Given the description of an element on the screen output the (x, y) to click on. 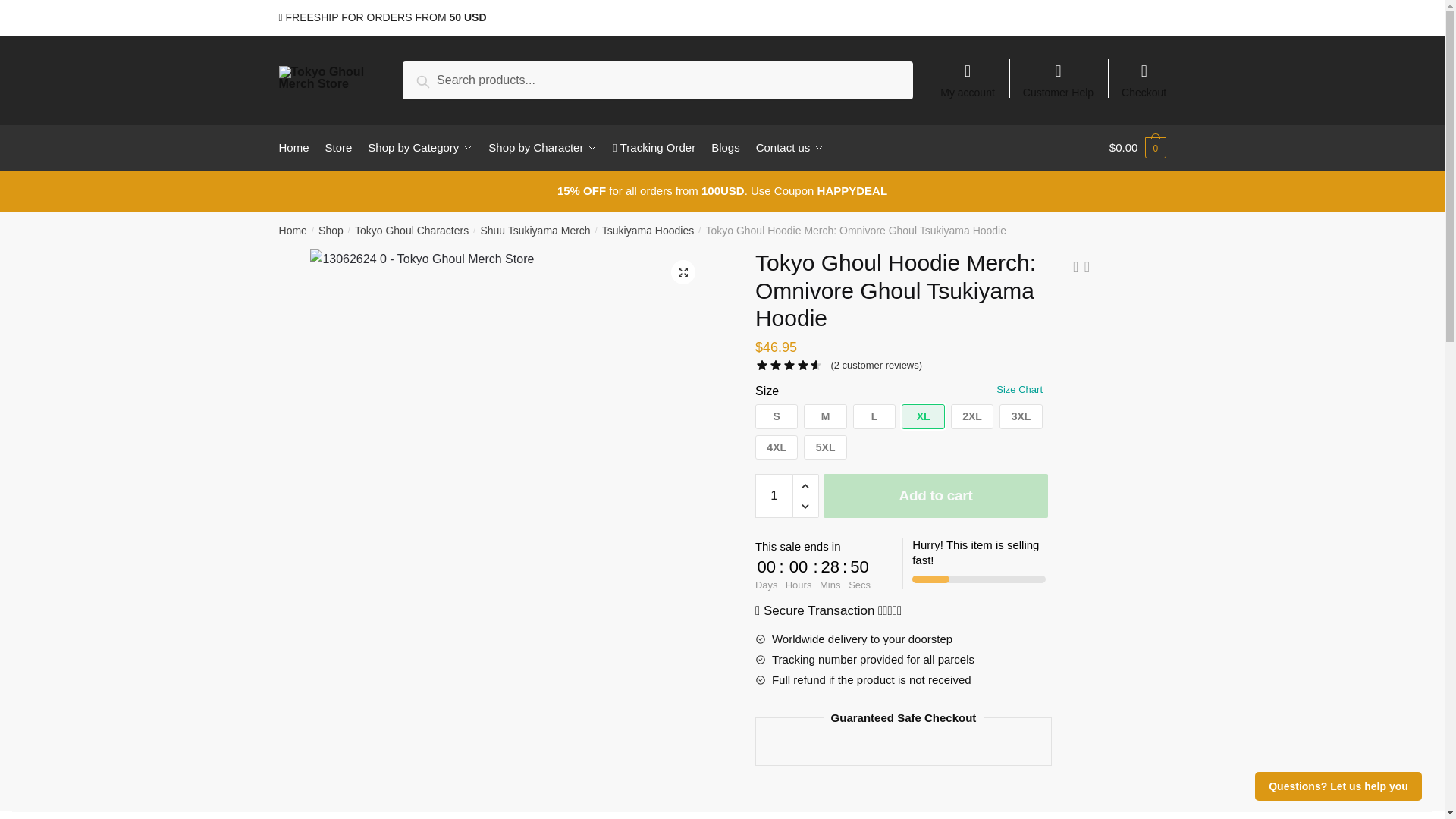
4XL (776, 447)
S (776, 416)
Shop by Category (420, 147)
2XL (971, 416)
My account (967, 73)
Store (338, 147)
3XL (1020, 416)
Checkout (1144, 73)
L (874, 416)
M (824, 416)
5XL (824, 447)
Customer Help (1058, 73)
View your shopping cart (1137, 147)
XL (922, 416)
Search (440, 78)
